Given the description of an element on the screen output the (x, y) to click on. 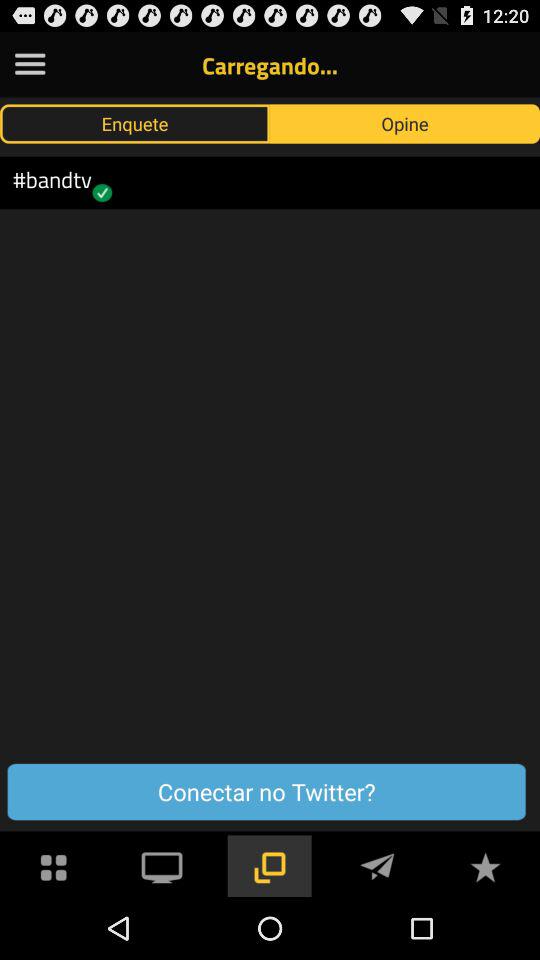
drop down menu (29, 64)
